Given the description of an element on the screen output the (x, y) to click on. 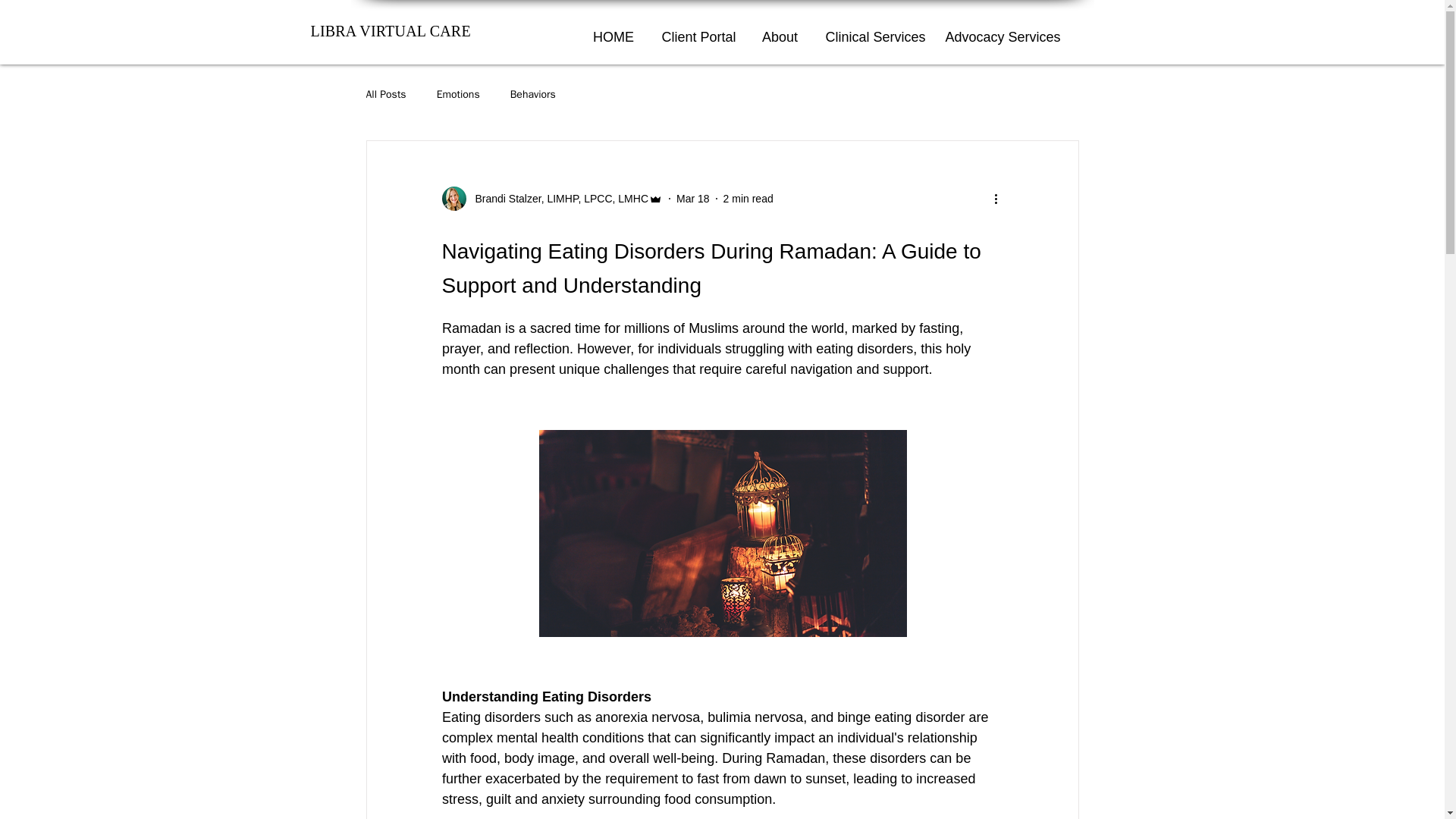
Behaviors (533, 94)
2 min read (748, 198)
All Posts (385, 94)
Brandi Stalzer, LIMHP, LPCC, LMHC (551, 198)
HOME (613, 30)
Mar 18 (693, 198)
Emotions (458, 94)
Client Portal (697, 30)
Brandi Stalzer, LIMHP, LPCC, LMHC (556, 198)
